Given the description of an element on the screen output the (x, y) to click on. 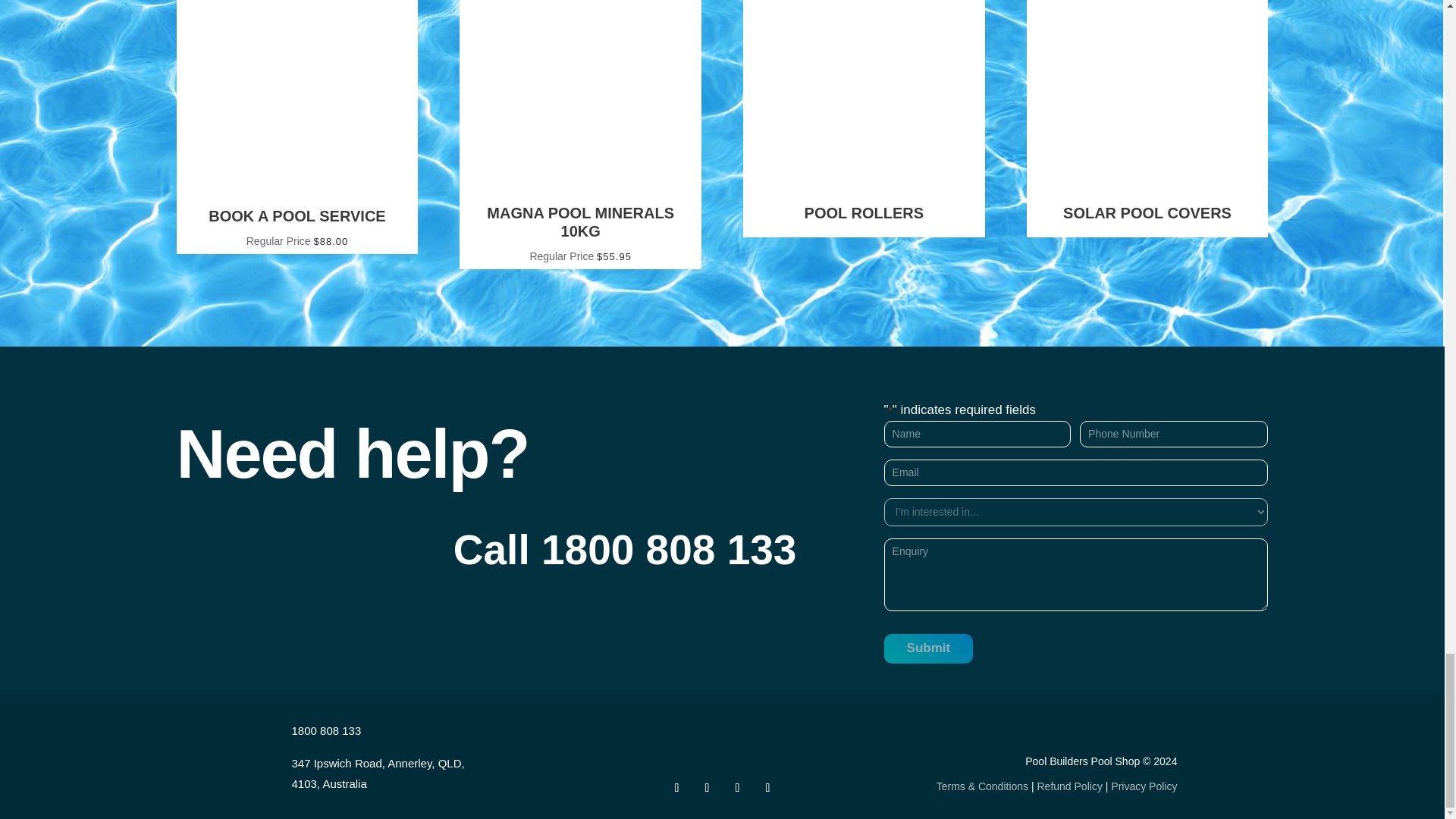
Ronin Website Badge (1104, 728)
Follow on Facebook (675, 787)
Follow on LinkedIn (737, 787)
Follow on Instagram (706, 787)
Follow on Youtube (766, 787)
Submit (928, 648)
